Given the description of an element on the screen output the (x, y) to click on. 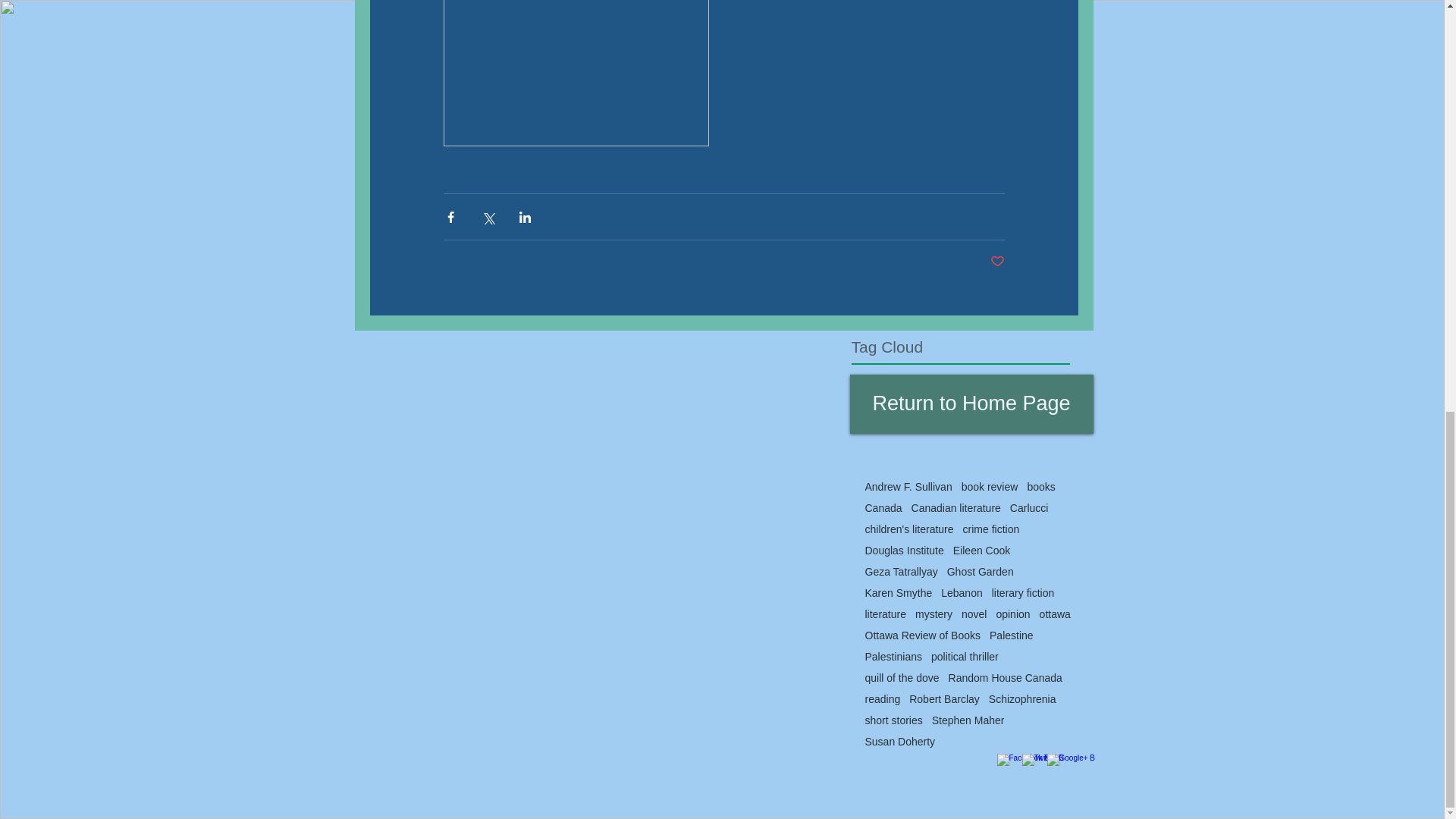
Palestine (1011, 635)
Random House Canada (1005, 677)
Ghost Garden (980, 571)
Canadian literature (956, 508)
Canada (882, 508)
Ottawa Review of Books (921, 635)
children's literature (908, 529)
Eileen Cook (981, 550)
opinion (1012, 613)
crime fiction (991, 529)
Andrew F. Sullivan (908, 486)
ottawa (1054, 613)
Geza Tatrallyay (900, 571)
book review (988, 486)
Douglas Institute (903, 550)
